Given the description of an element on the screen output the (x, y) to click on. 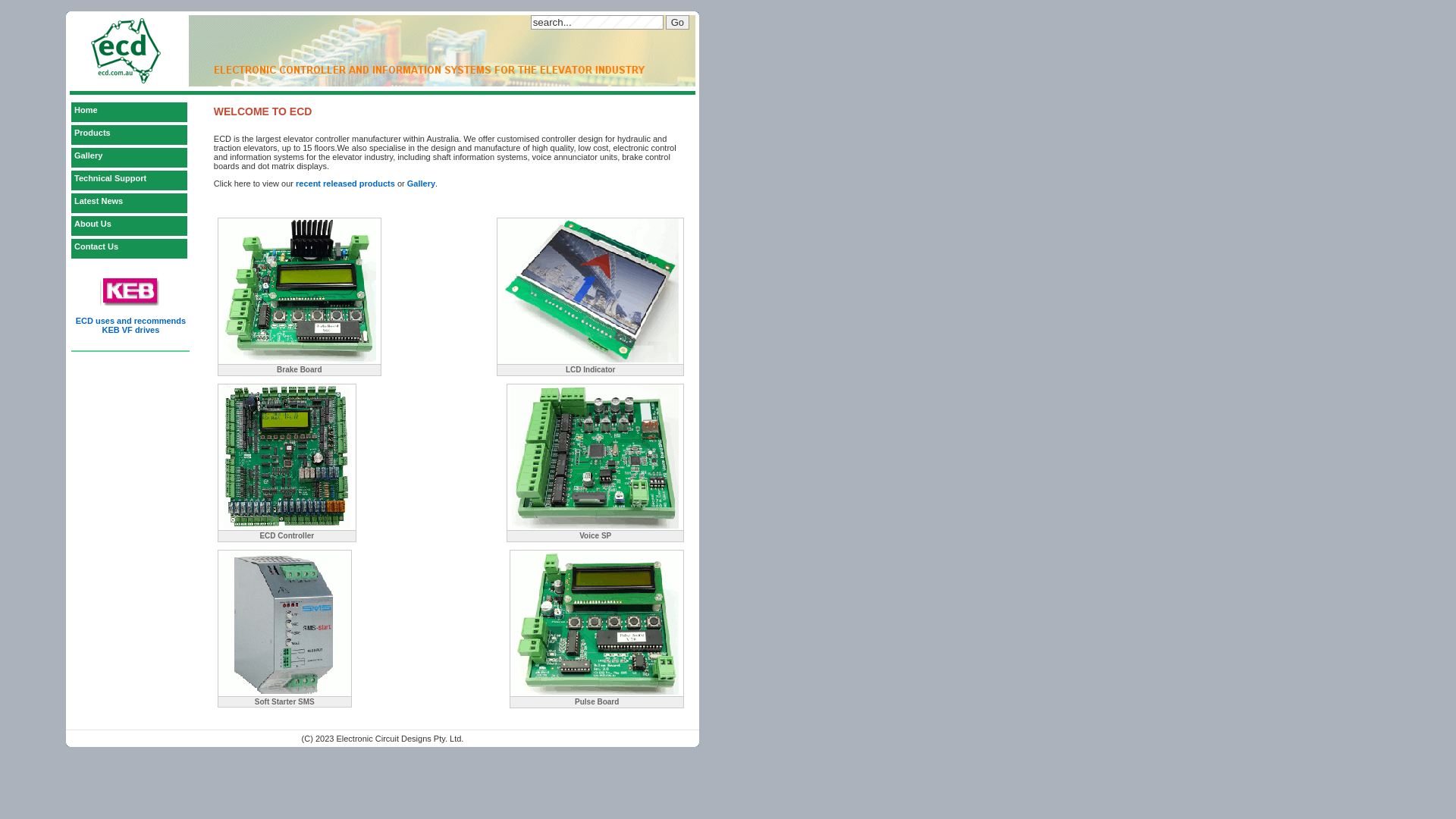
Image Element type: hover (596, 622)
Image Element type: hover (284, 622)
recent released products Element type: text (345, 183)
ECD uses and recommends KEB VF drives Element type: text (130, 325)
Go Element type: text (677, 22)
Image Element type: hover (590, 290)
Image Element type: hover (286, 456)
Image Element type: hover (594, 456)
Products Element type: text (129, 134)
About Us Element type: text (129, 225)
Gallery Element type: text (129, 157)
Latest News Element type: text (129, 203)
Technical Support Element type: text (129, 180)
Gallery Element type: text (421, 183)
Image Element type: hover (299, 290)
Contact Us Element type: text (129, 248)
Home Element type: text (129, 112)
  Element type: text (388, 219)
